Given the description of an element on the screen output the (x, y) to click on. 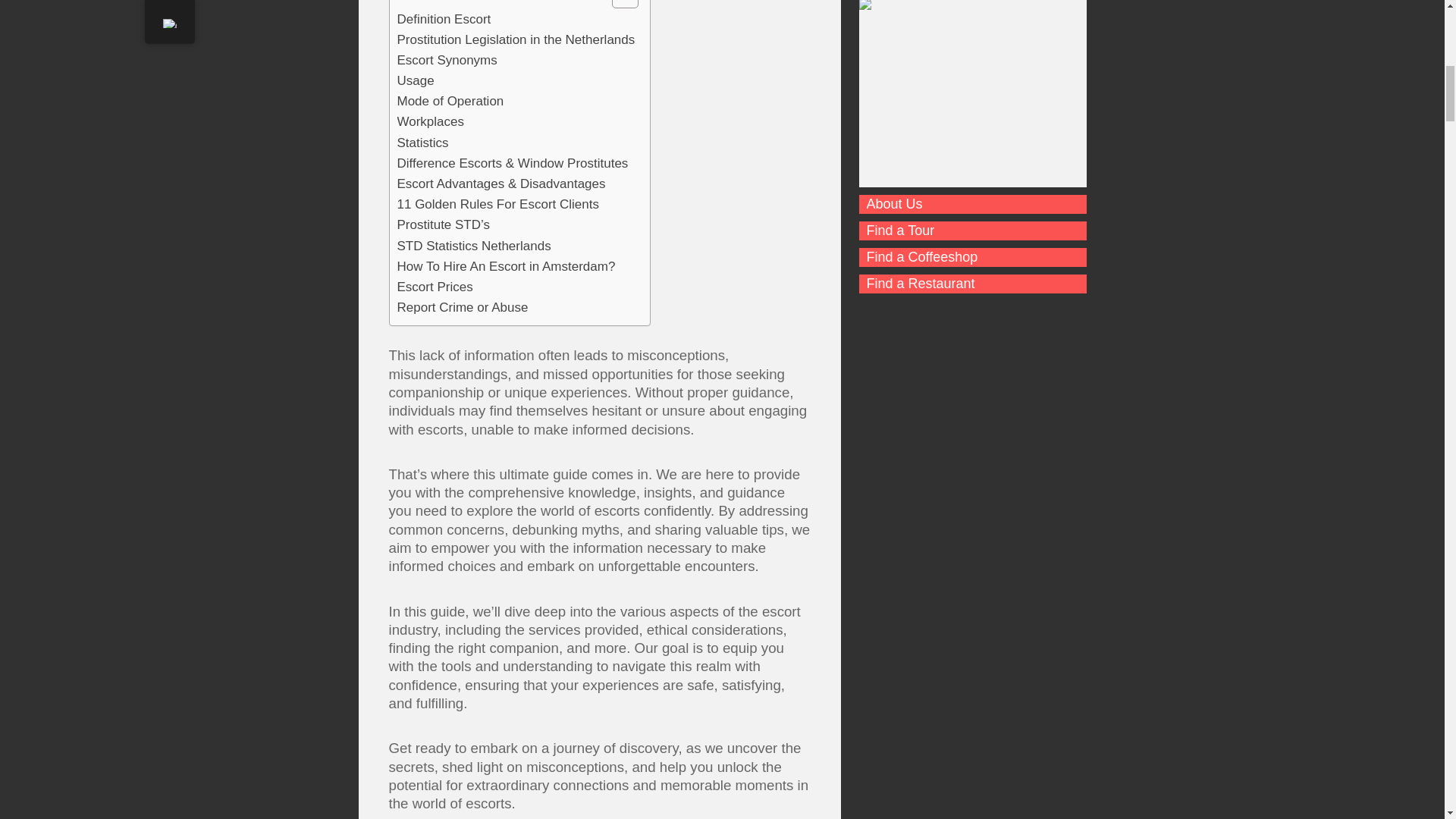
Statistics (422, 142)
Escort Synonyms (447, 59)
Prostitution Legislation in the Netherlands (515, 39)
Prostitution Legislation in the Netherlands (515, 39)
Workplaces (430, 121)
Definition Escort (444, 19)
Definition Escort (444, 19)
Usage (415, 80)
Mode of Operation (450, 100)
